Given the description of an element on the screen output the (x, y) to click on. 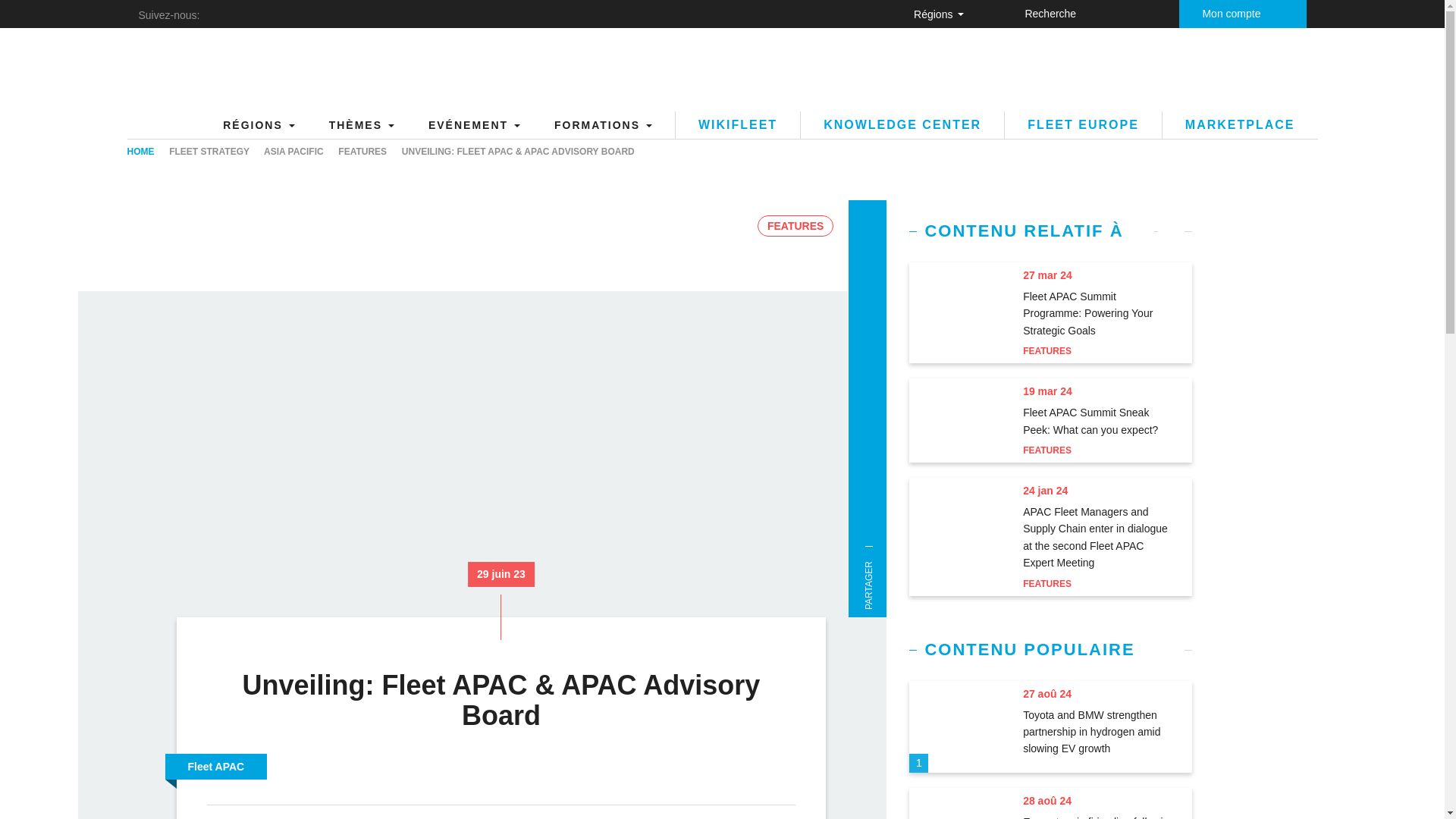
KNOWLEDGE CENTER (902, 124)
WIKIFLEET (737, 124)
Fleet APAC (216, 766)
Youtube (327, 14)
FLEET EUROPE (1082, 124)
Recherche (1000, 12)
Twitter (293, 14)
Recherche (1219, 13)
HOME (141, 151)
Global Fleet (241, 69)
